Given the description of an element on the screen output the (x, y) to click on. 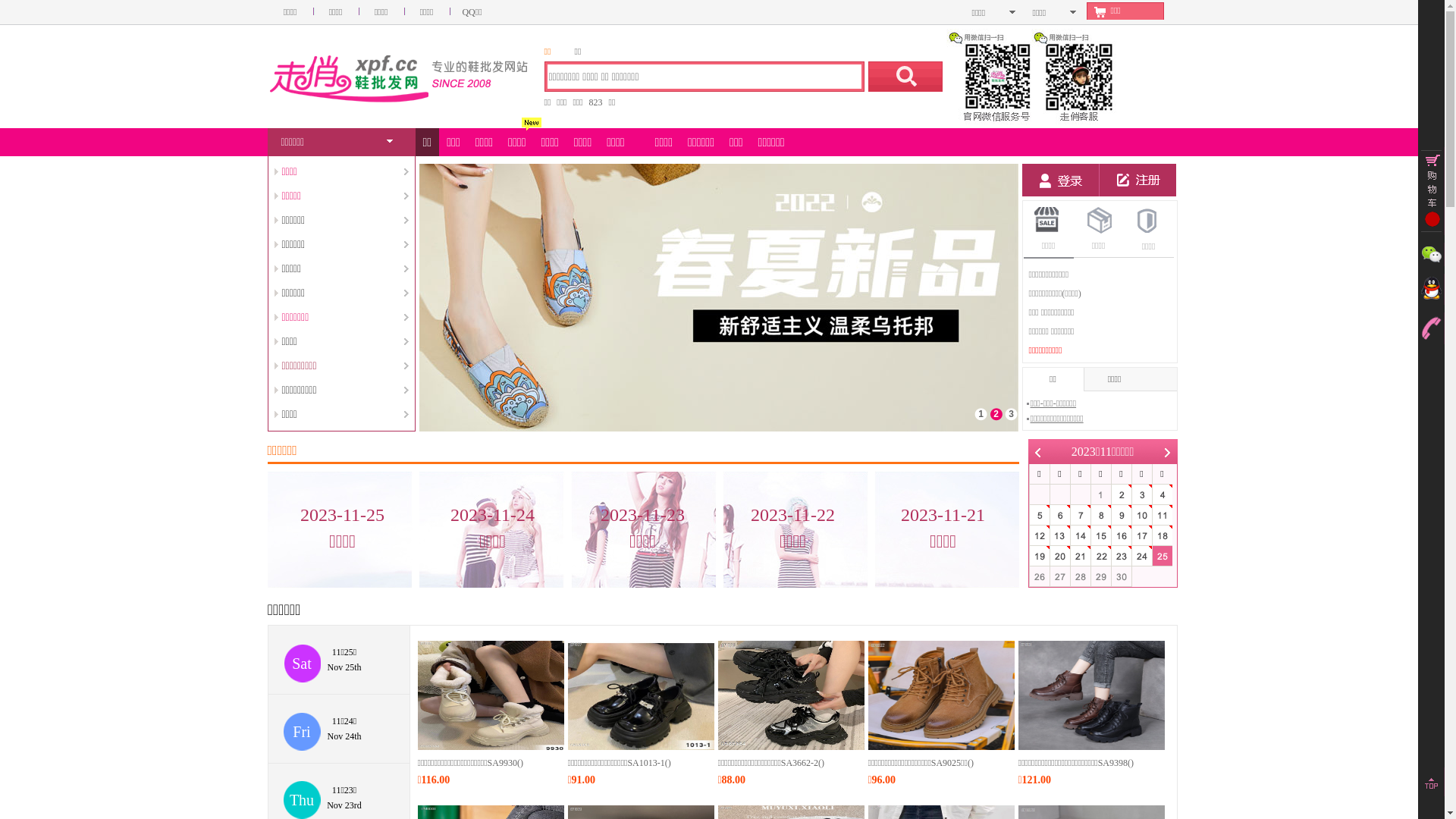
823 Element type: text (595, 102)
